Given the description of an element on the screen output the (x, y) to click on. 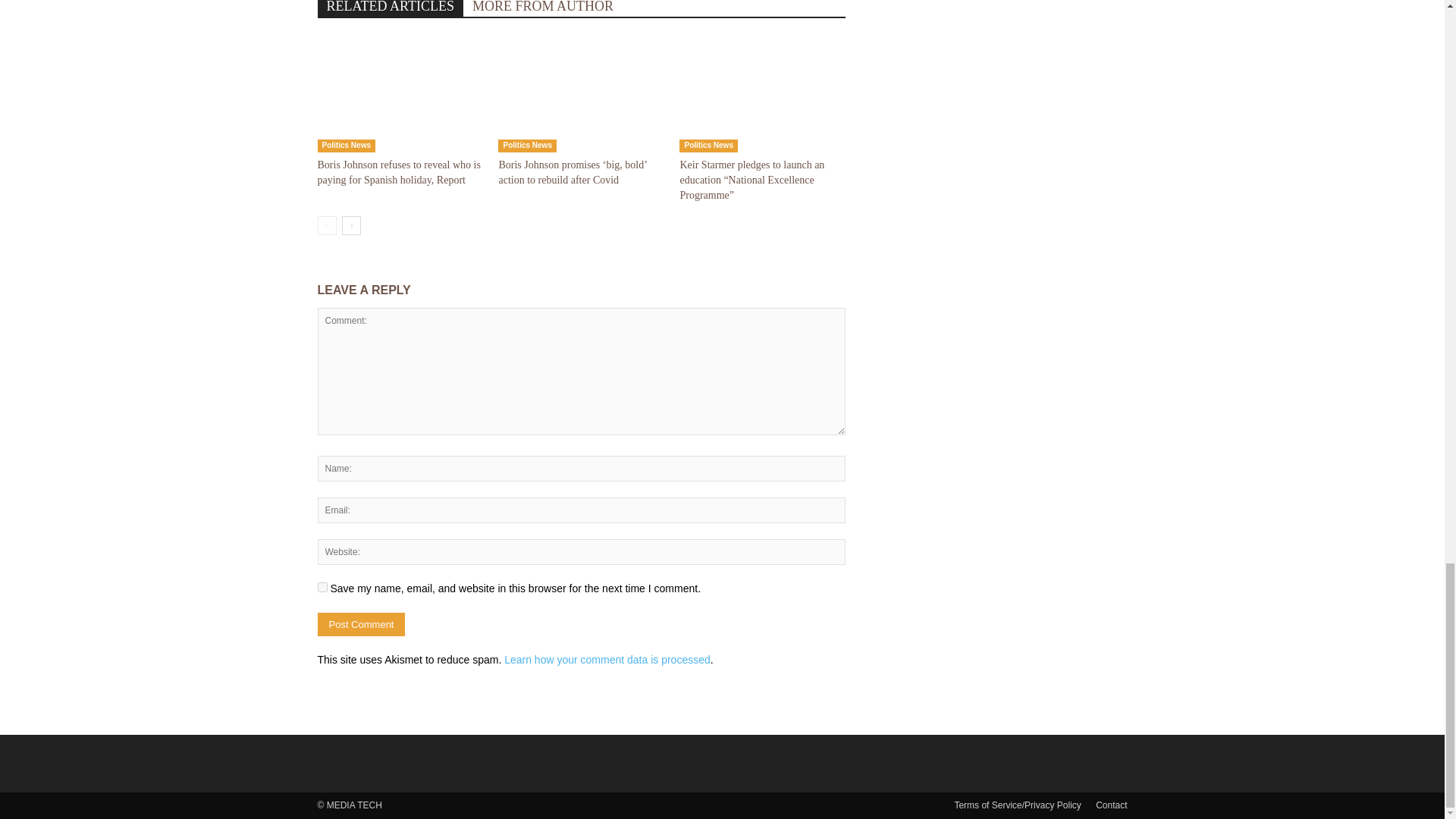
RELATED ARTICLES (390, 8)
yes (321, 587)
Post Comment (360, 624)
